Given the description of an element on the screen output the (x, y) to click on. 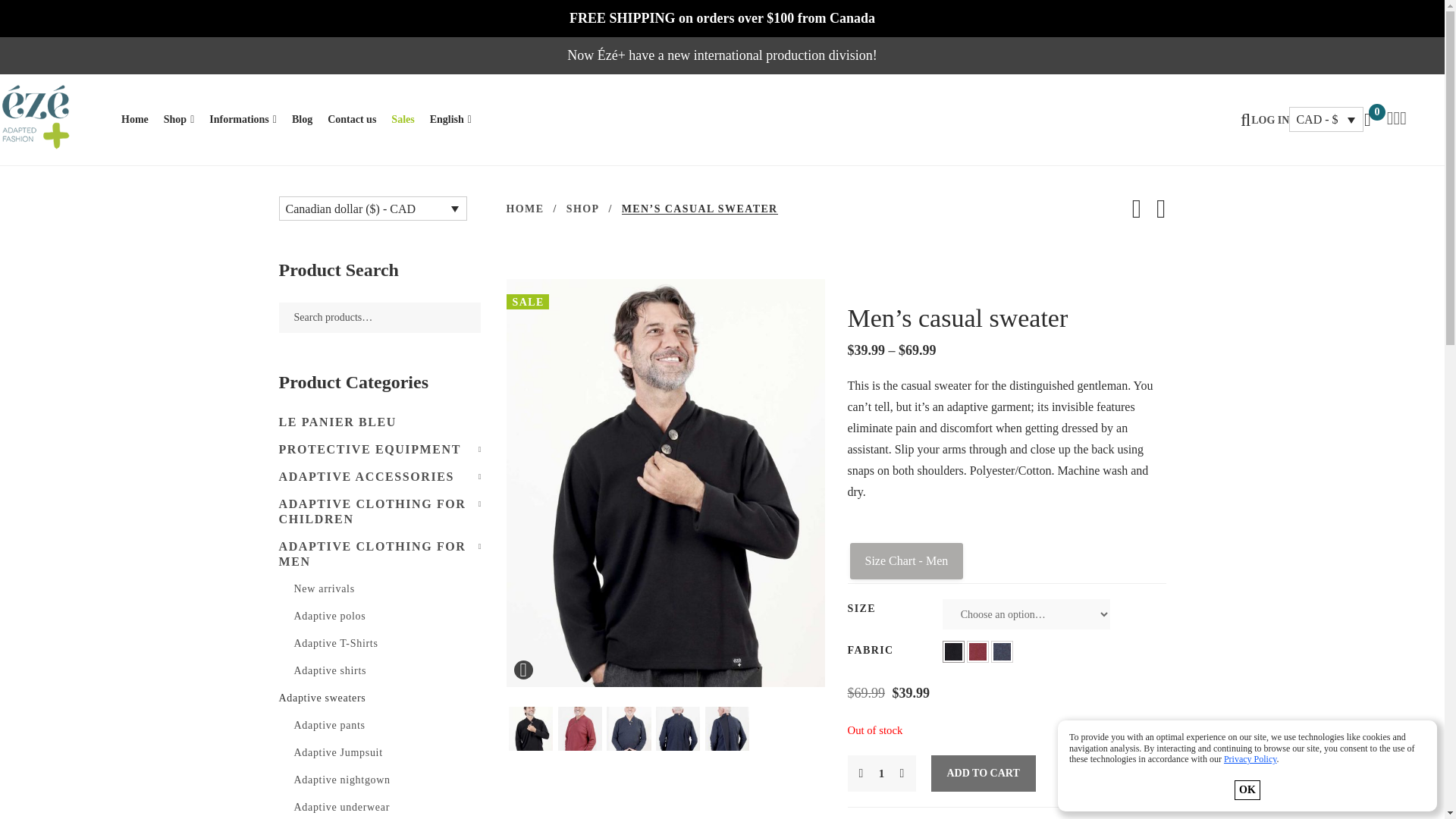
Informations (242, 119)
1 (881, 773)
Shop (178, 119)
